Given the description of an element on the screen output the (x, y) to click on. 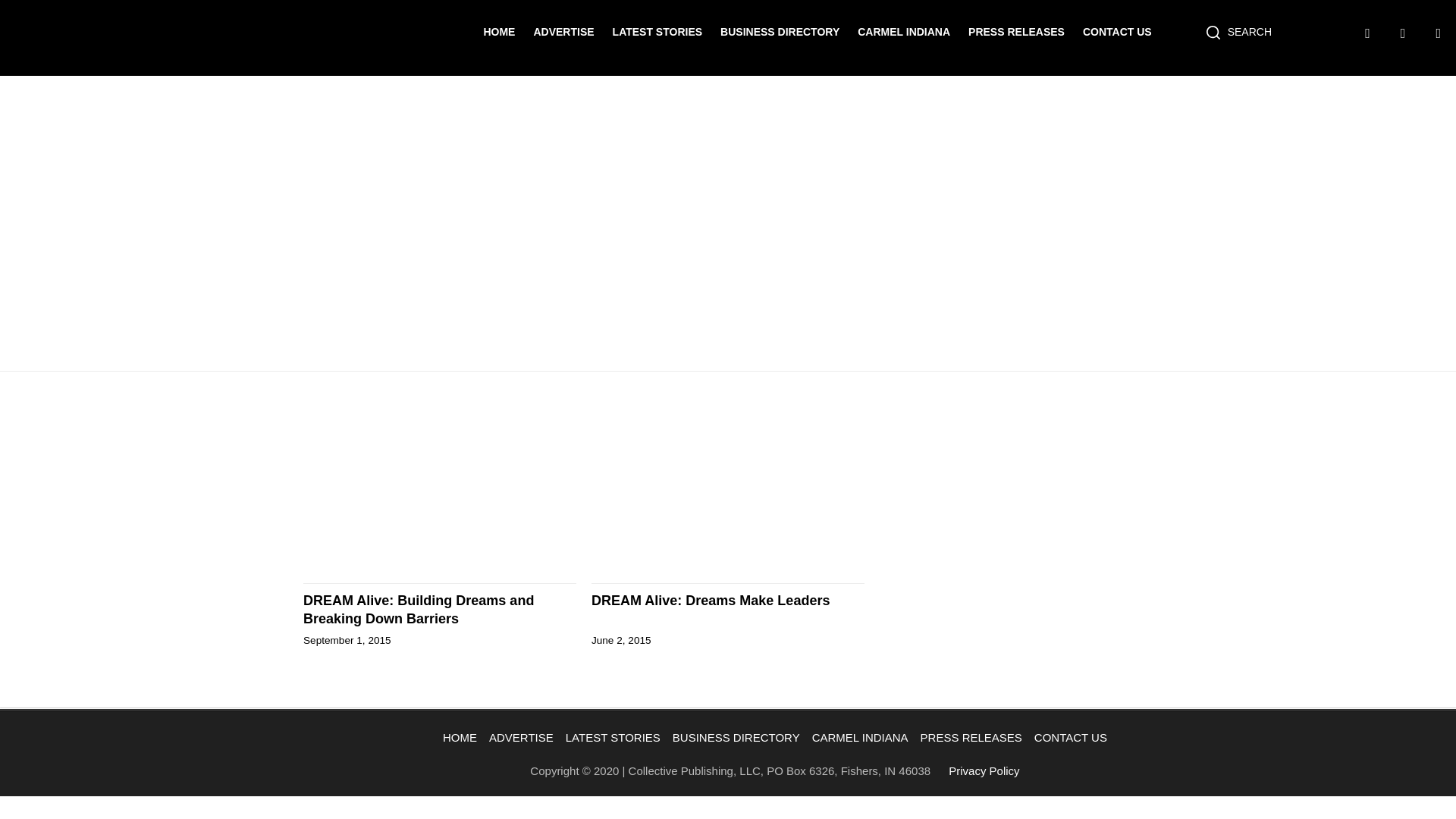
LATEST STORIES (612, 737)
DREAM Alive: Dreams Make Leaders (727, 600)
HOME (499, 31)
ADVERTISE (521, 737)
HOME (459, 737)
PRESS RELEASES (970, 737)
CARMEL INDIANA (860, 737)
ADVERTISE (563, 31)
BUSINESS DIRECTORY (780, 31)
DREAM Alive: Building Dreams and Breaking Down Barriers (439, 609)
LATEST STORIES (657, 31)
CARMEL INDIANA (903, 31)
SEARCH (1239, 31)
CONTACT US (1070, 737)
BUSINESS DIRECTORY (736, 737)
